Given the description of an element on the screen output the (x, y) to click on. 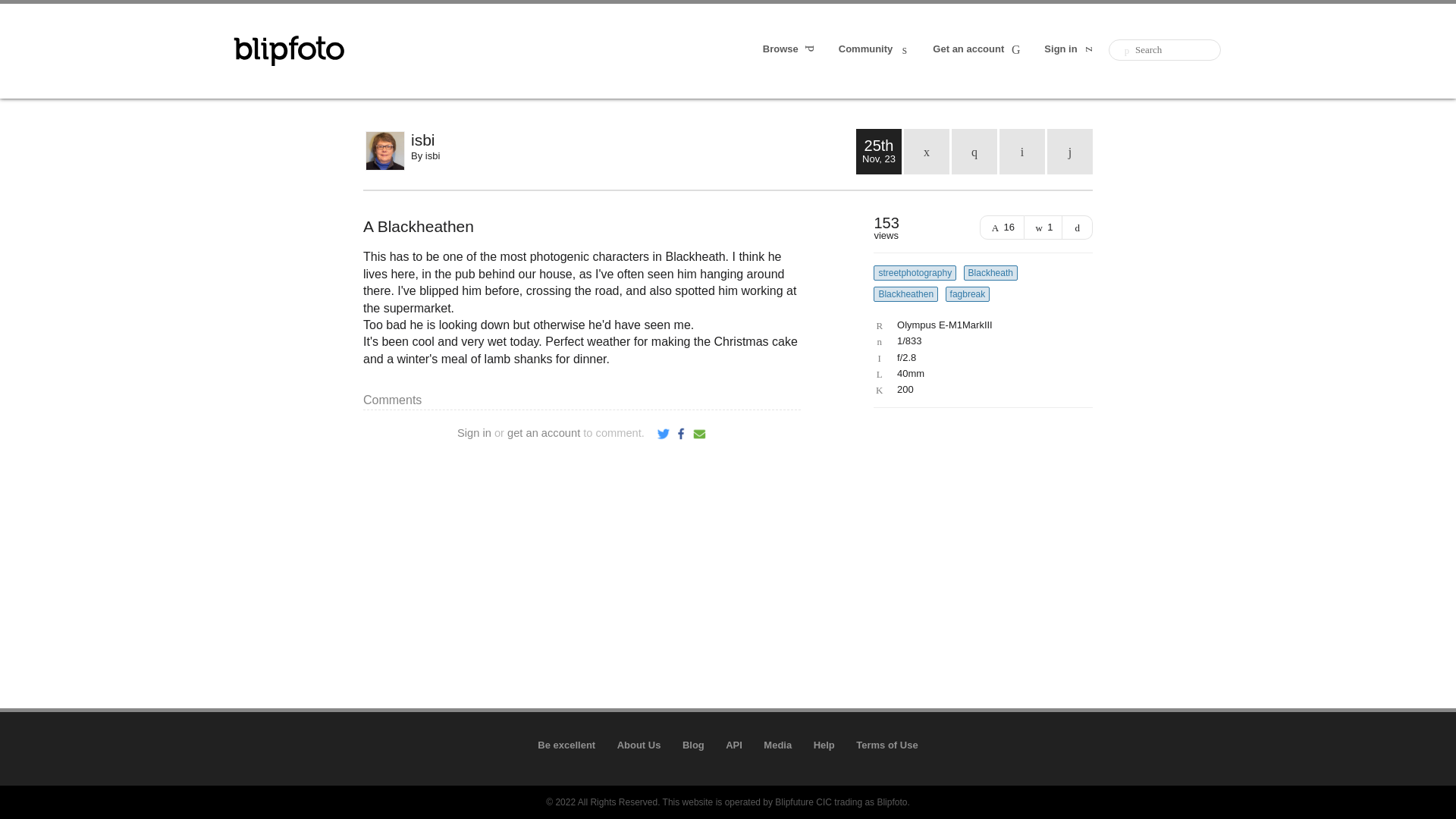
Previous (1021, 151)
Terms of Use (886, 745)
Get an account (978, 50)
get an account (542, 432)
Browse (789, 50)
Camera (978, 325)
Media (777, 745)
Help (823, 745)
Community (874, 50)
fagbreak (967, 294)
Blackheathen (905, 294)
isbi (633, 139)
F-Stop (978, 357)
Focal length (978, 373)
Sign in (1069, 50)
